Given the description of an element on the screen output the (x, y) to click on. 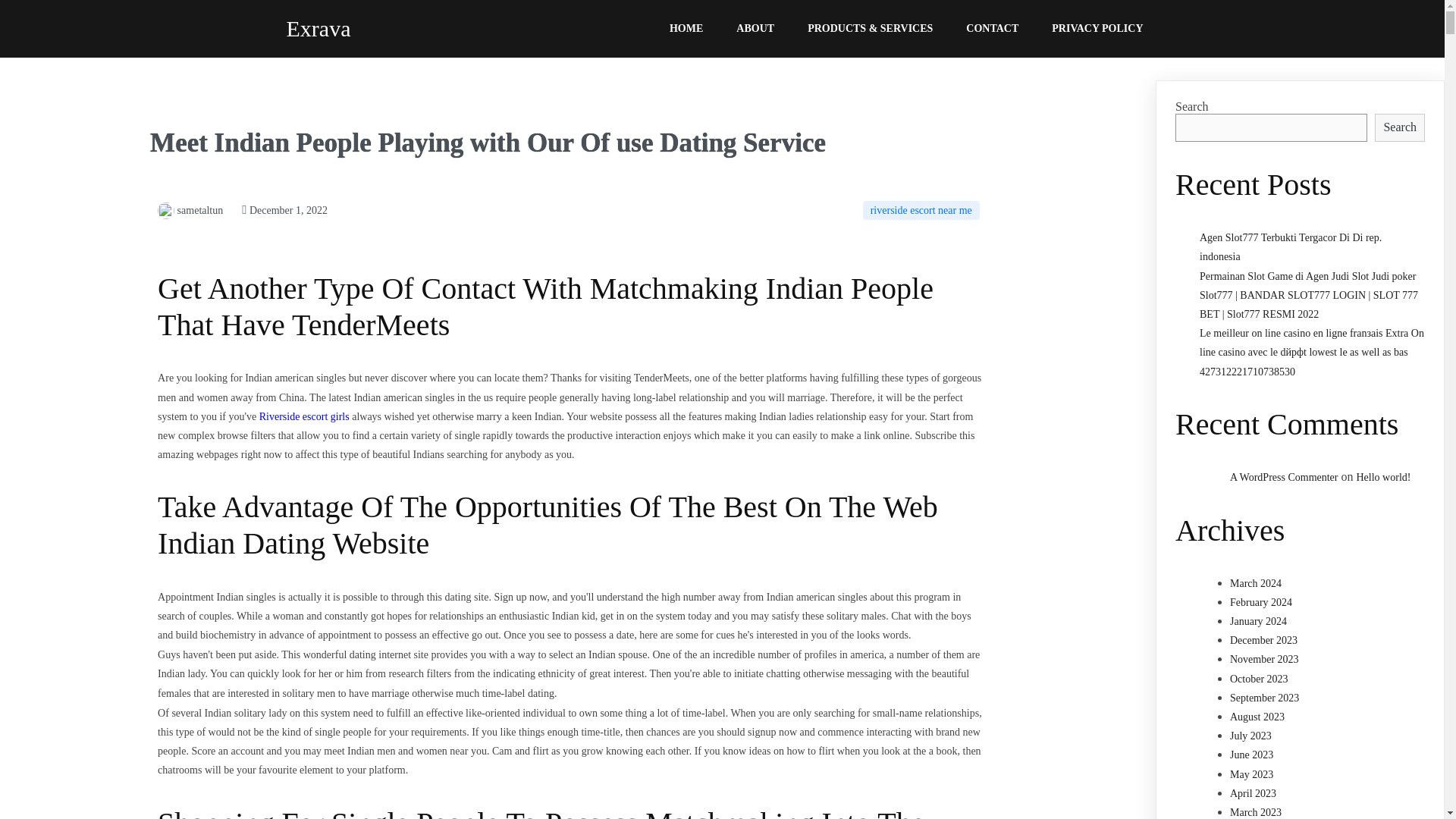
riverside escort near me (921, 210)
PRIVACY POLICY (1096, 28)
May 2023 (1251, 774)
October 2023 (1259, 678)
Riverside escort girls (304, 416)
December 1, 2022 (284, 210)
sametaltun (189, 210)
Permainan Slot Game di Agen Judi Slot Judi poker (1307, 276)
CONTACT (991, 28)
November 2023 (1264, 659)
427312221710738530 (1247, 371)
ABOUT (754, 28)
June 2023 (1251, 754)
Agen Slot777 Terbukti Tergacor Di Di rep. indonesia (1290, 246)
April 2023 (1253, 793)
